Given the description of an element on the screen output the (x, y) to click on. 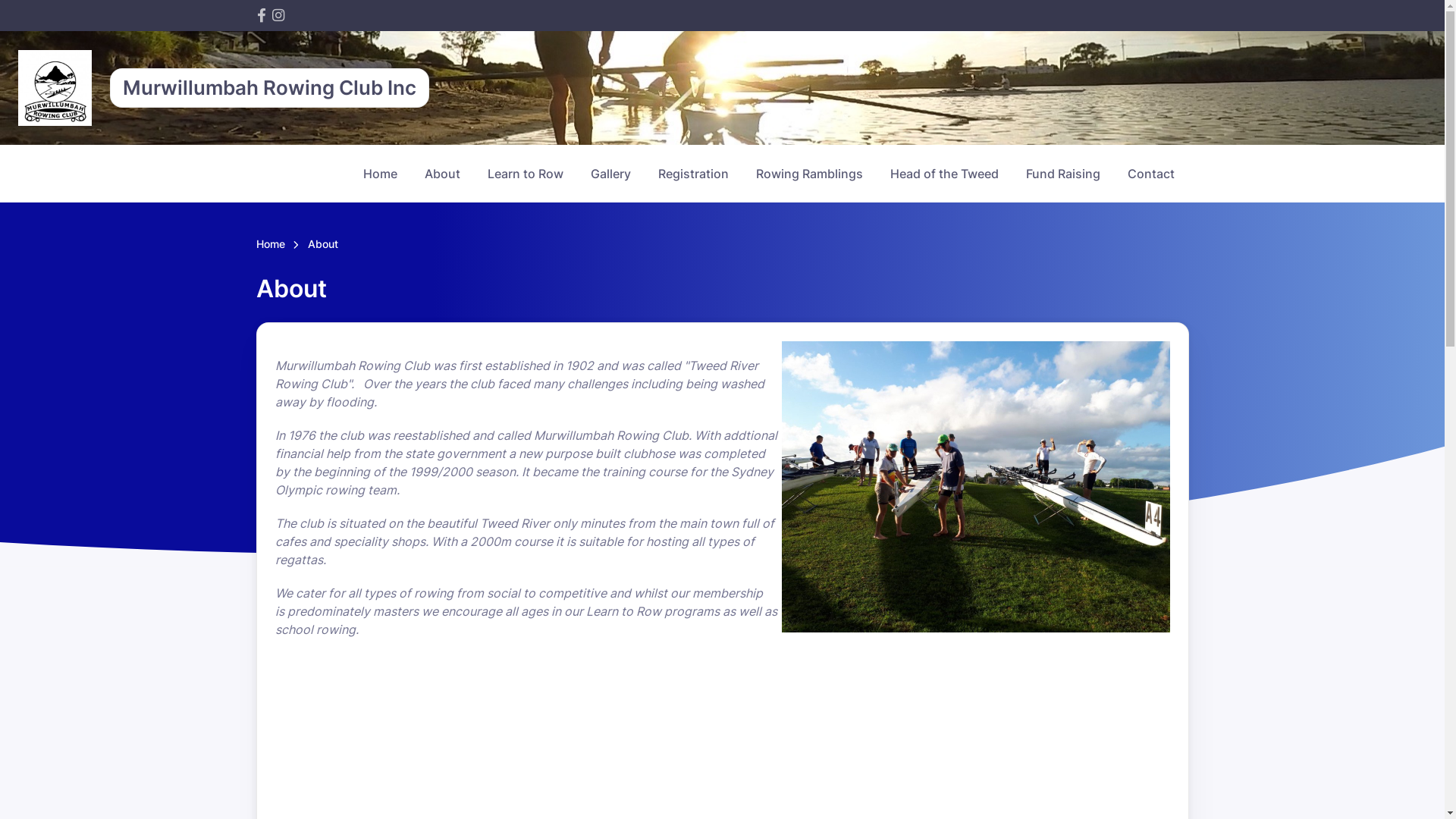
Murwillumbah Rowing Club Inc on Facebook Element type: hover (260, 15)
Contact Element type: text (1150, 173)
Gallery Element type: text (609, 173)
Murwillumbah Rowing Club Inc on Instagram Element type: hover (277, 15)
Fund Raising Element type: text (1062, 173)
Home Element type: text (270, 244)
Head of the Tweed Element type: text (944, 173)
Rowing Ramblings Element type: text (808, 173)
Registration Element type: text (693, 173)
Home Element type: text (379, 173)
Learn to Row Element type: text (524, 173)
About Element type: text (442, 173)
